Given the description of an element on the screen output the (x, y) to click on. 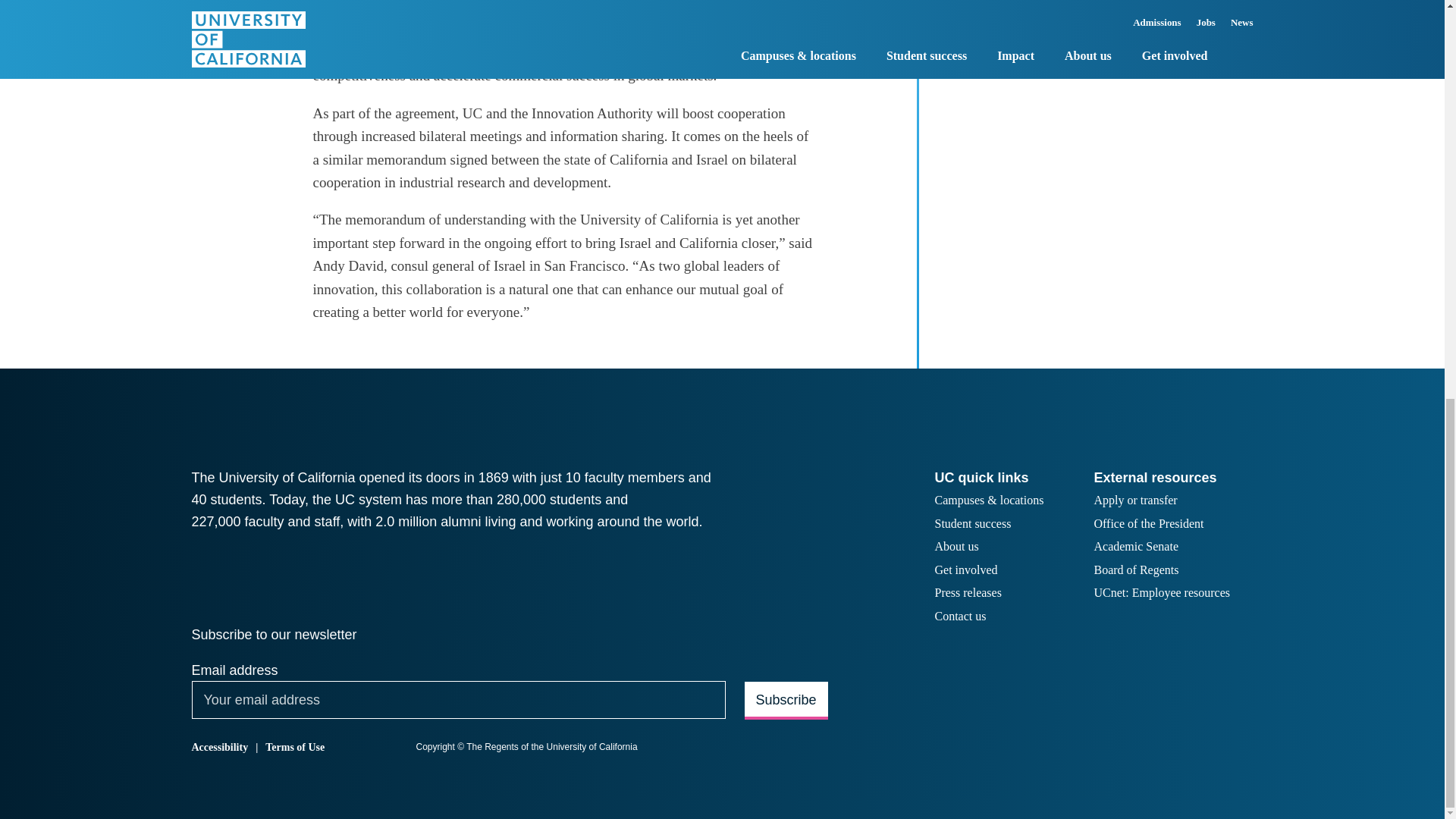
Office of the President (1148, 525)
Board of Regents (1135, 571)
Academic Senate (1135, 547)
